Given the description of an element on the screen output the (x, y) to click on. 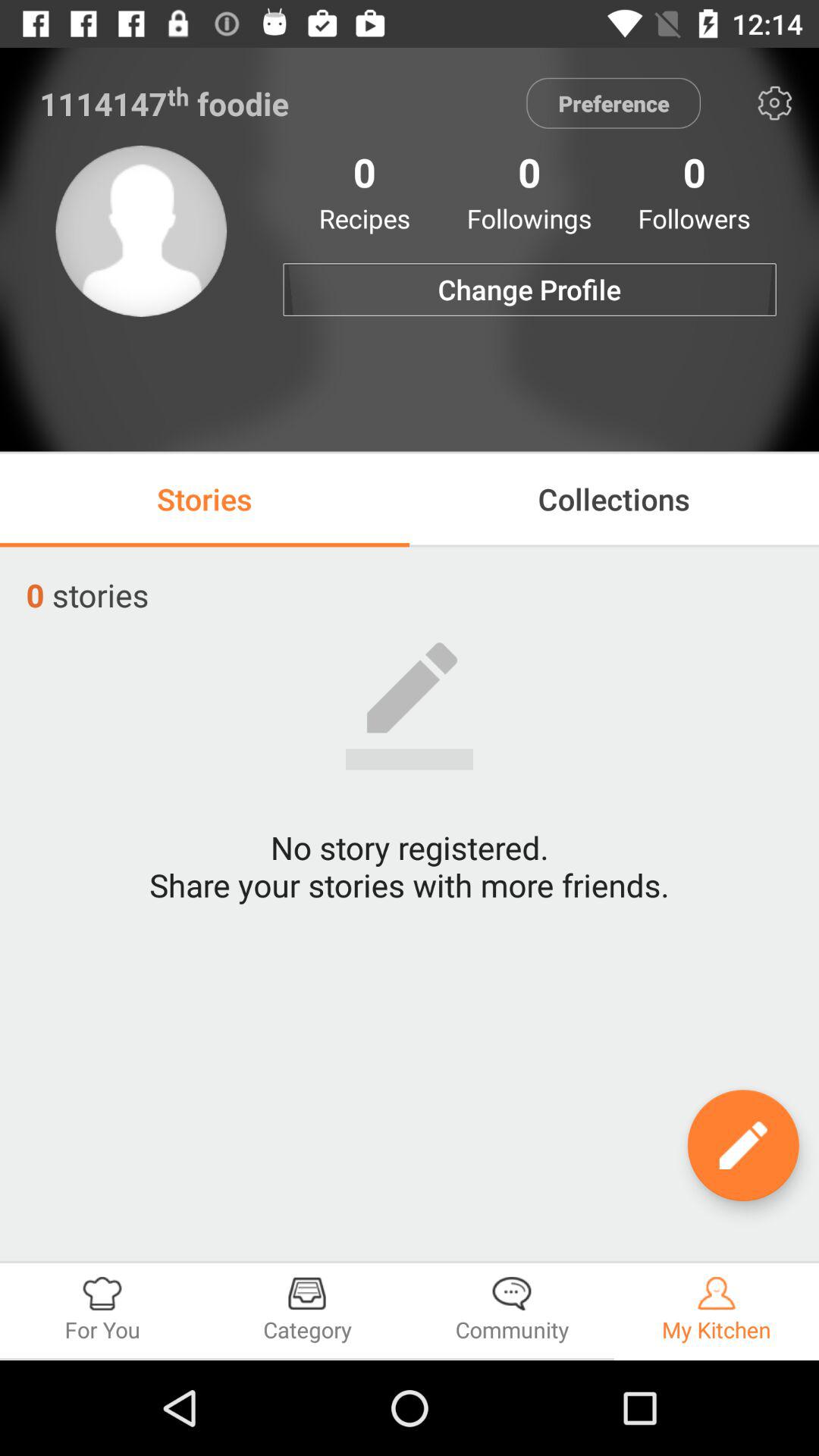
register (743, 1145)
